Given the description of an element on the screen output the (x, y) to click on. 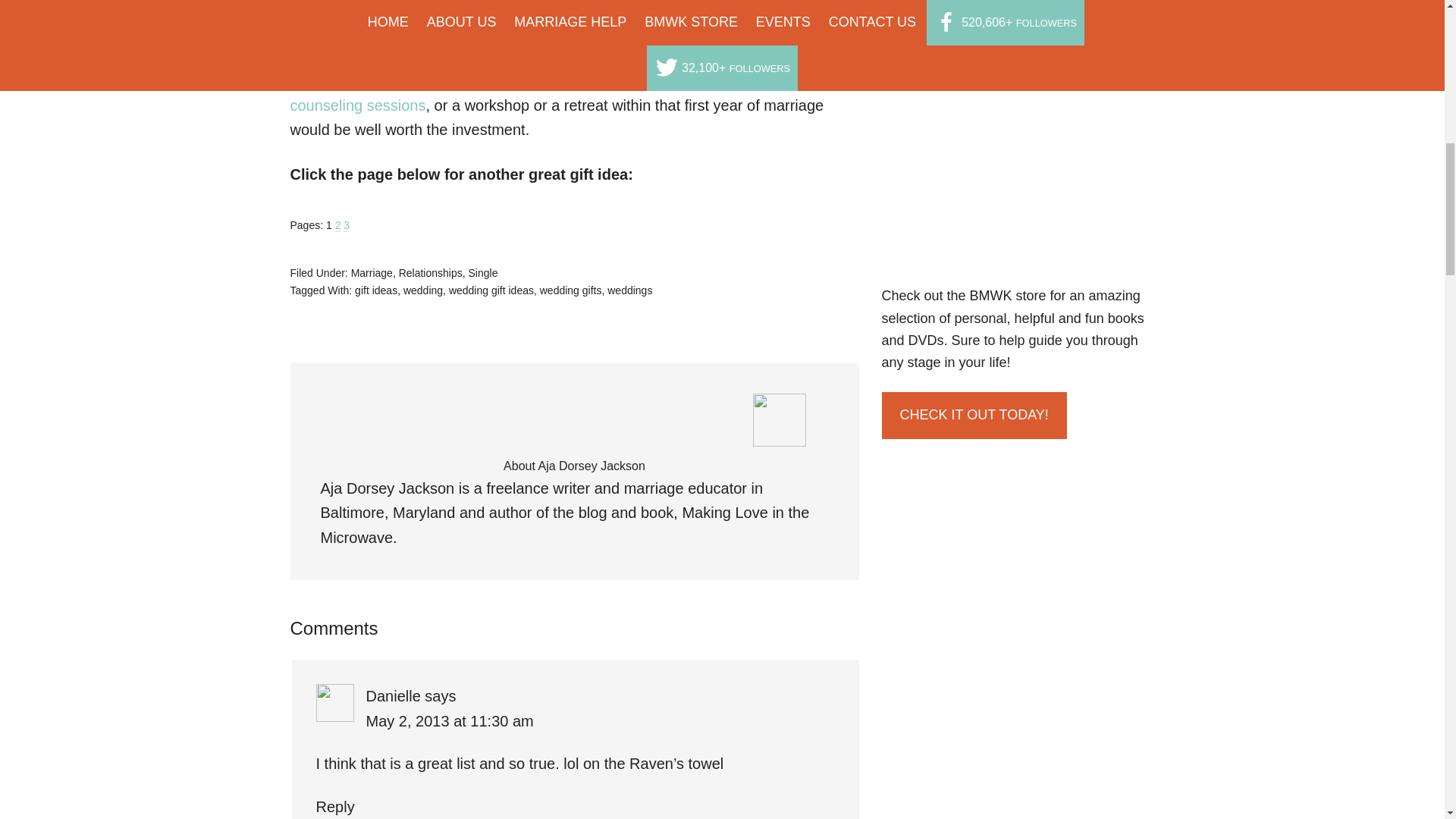
counseling sessions (357, 105)
wedding gifts (571, 290)
May 2, 2013 at 11:30 am (448, 720)
Reply (334, 806)
Relationships (430, 272)
Single (482, 272)
wedding gift ideas (491, 290)
first two years of marriage are the most critical (563, 7)
gift ideas (376, 290)
Marriage (371, 272)
weddings (629, 290)
wedding (422, 290)
